Given the description of an element on the screen output the (x, y) to click on. 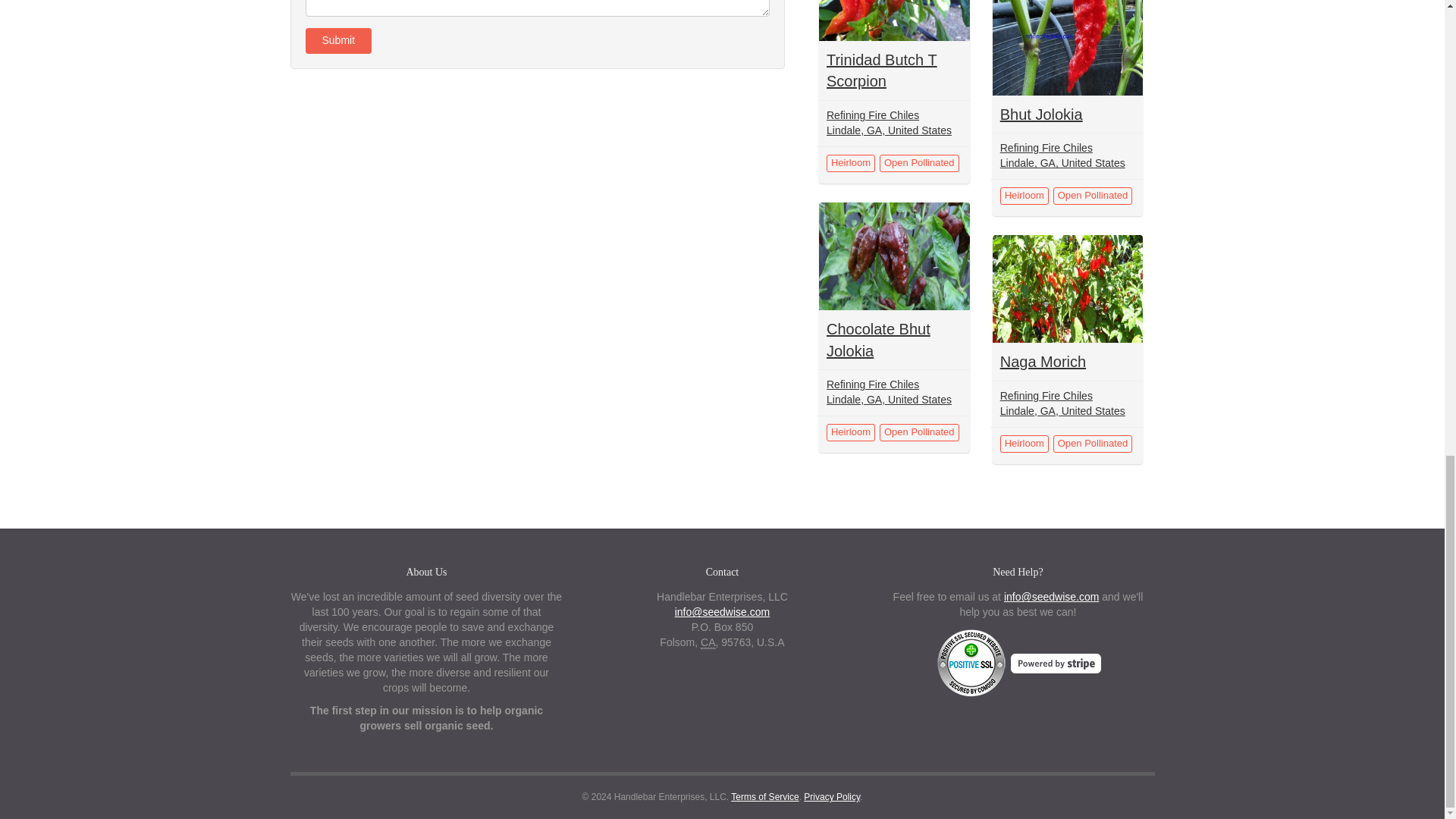
Submit (337, 40)
California (707, 642)
